Given the description of an element on the screen output the (x, y) to click on. 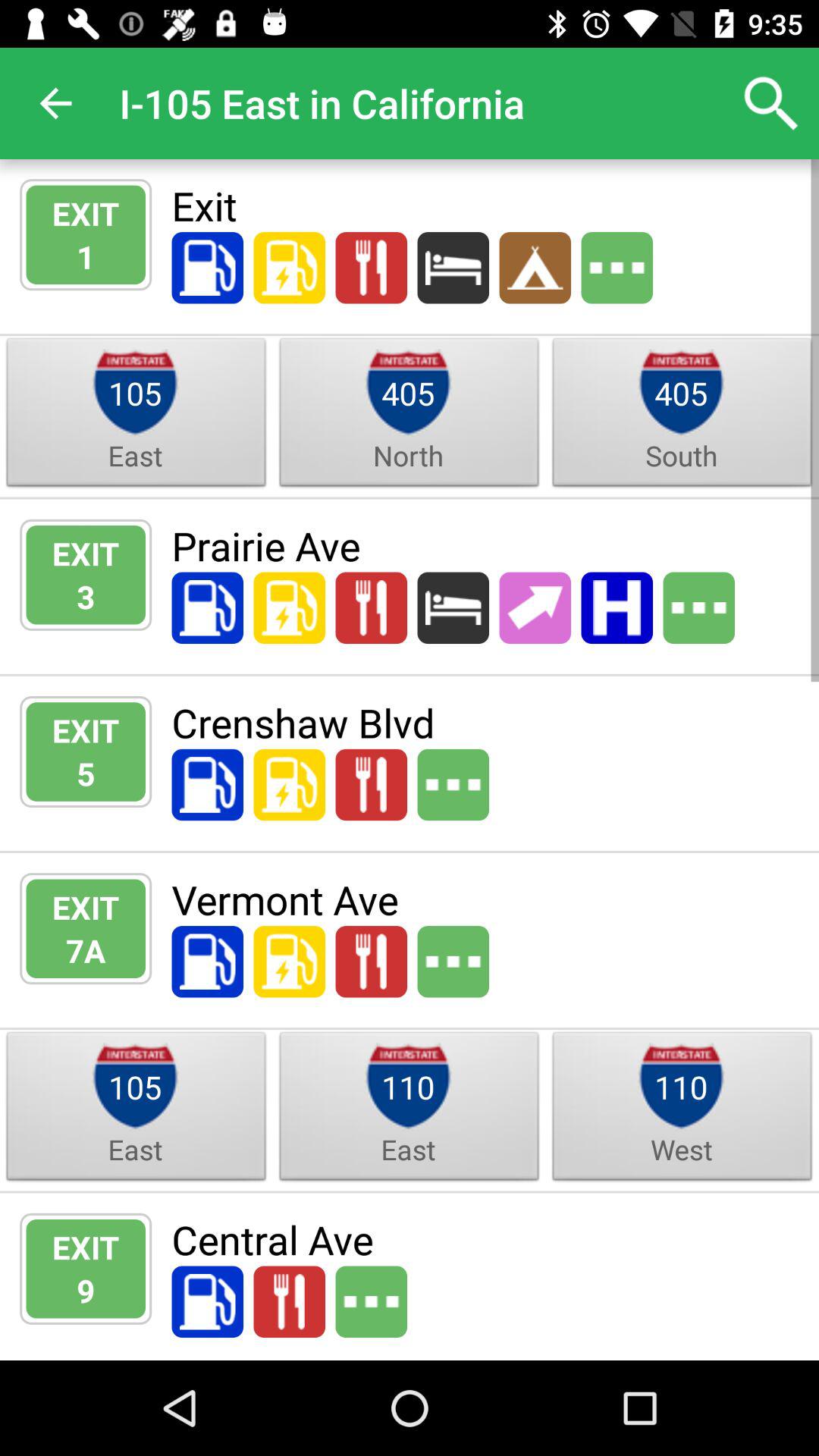
scroll until the prairie ave (485, 545)
